Given the description of an element on the screen output the (x, y) to click on. 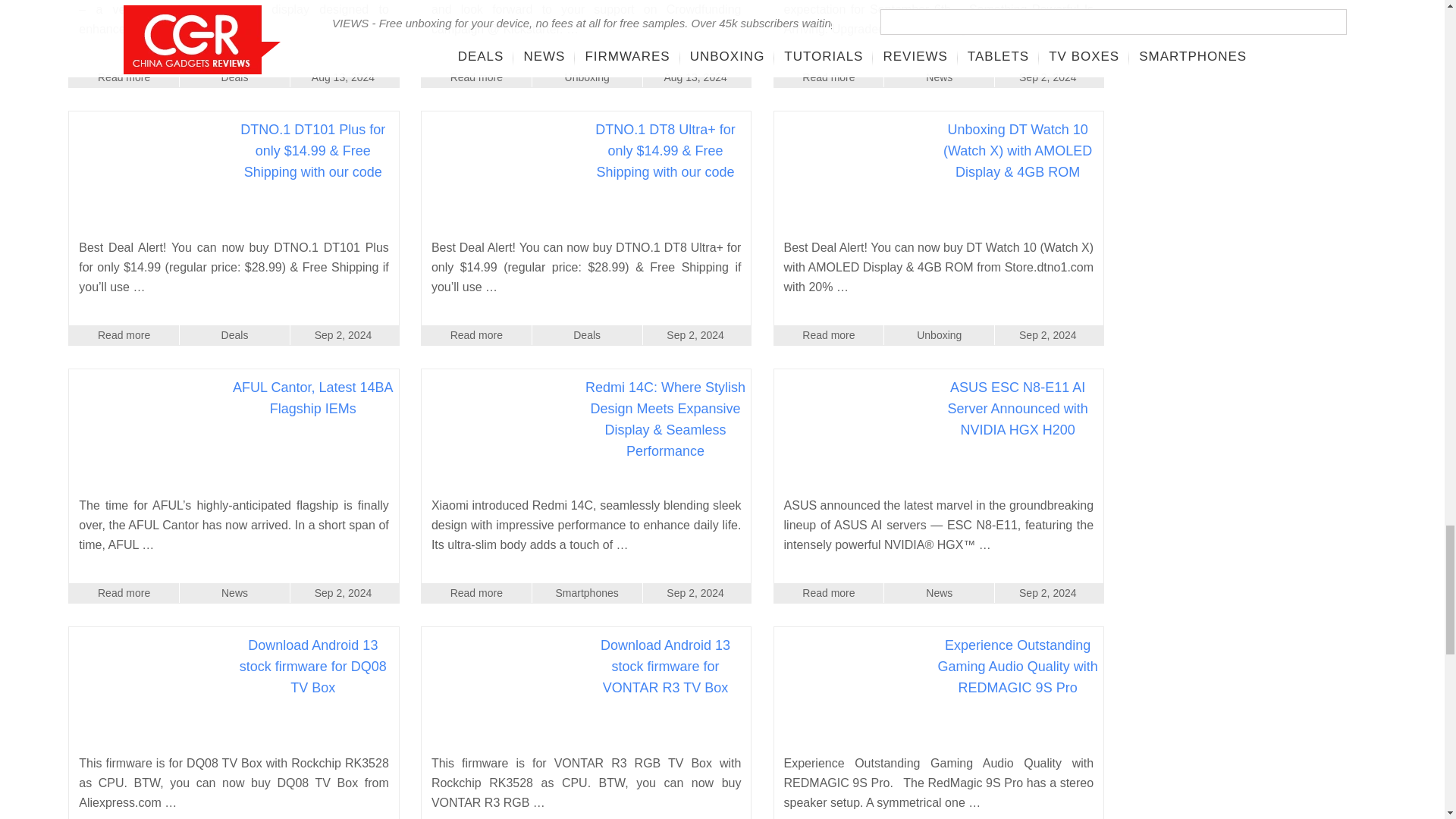
Unboxing (587, 76)
Advertisement (1260, 21)
Deals (234, 76)
Read more (476, 76)
Read more (123, 76)
